Given the description of an element on the screen output the (x, y) to click on. 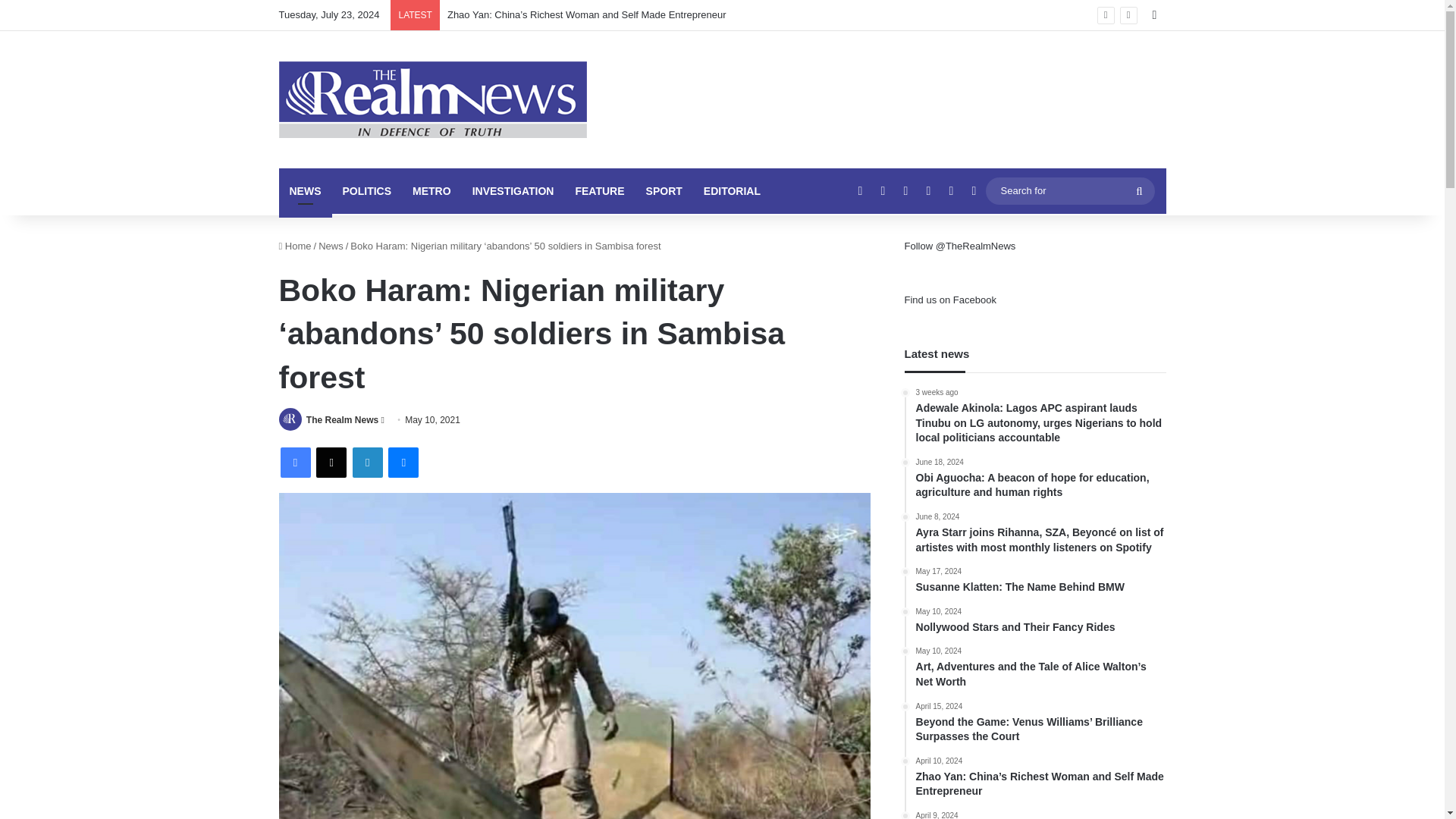
INVESTIGATION (512, 190)
NEWS (305, 190)
The Realm News (341, 419)
POLITICS (367, 190)
METRO (431, 190)
X (330, 462)
Search for (1139, 190)
Search for (1069, 190)
News (330, 245)
LinkedIn (367, 462)
Facebook (296, 462)
Home (295, 245)
SPORT (663, 190)
The Realm News (341, 419)
LinkedIn (367, 462)
